Given the description of an element on the screen output the (x, y) to click on. 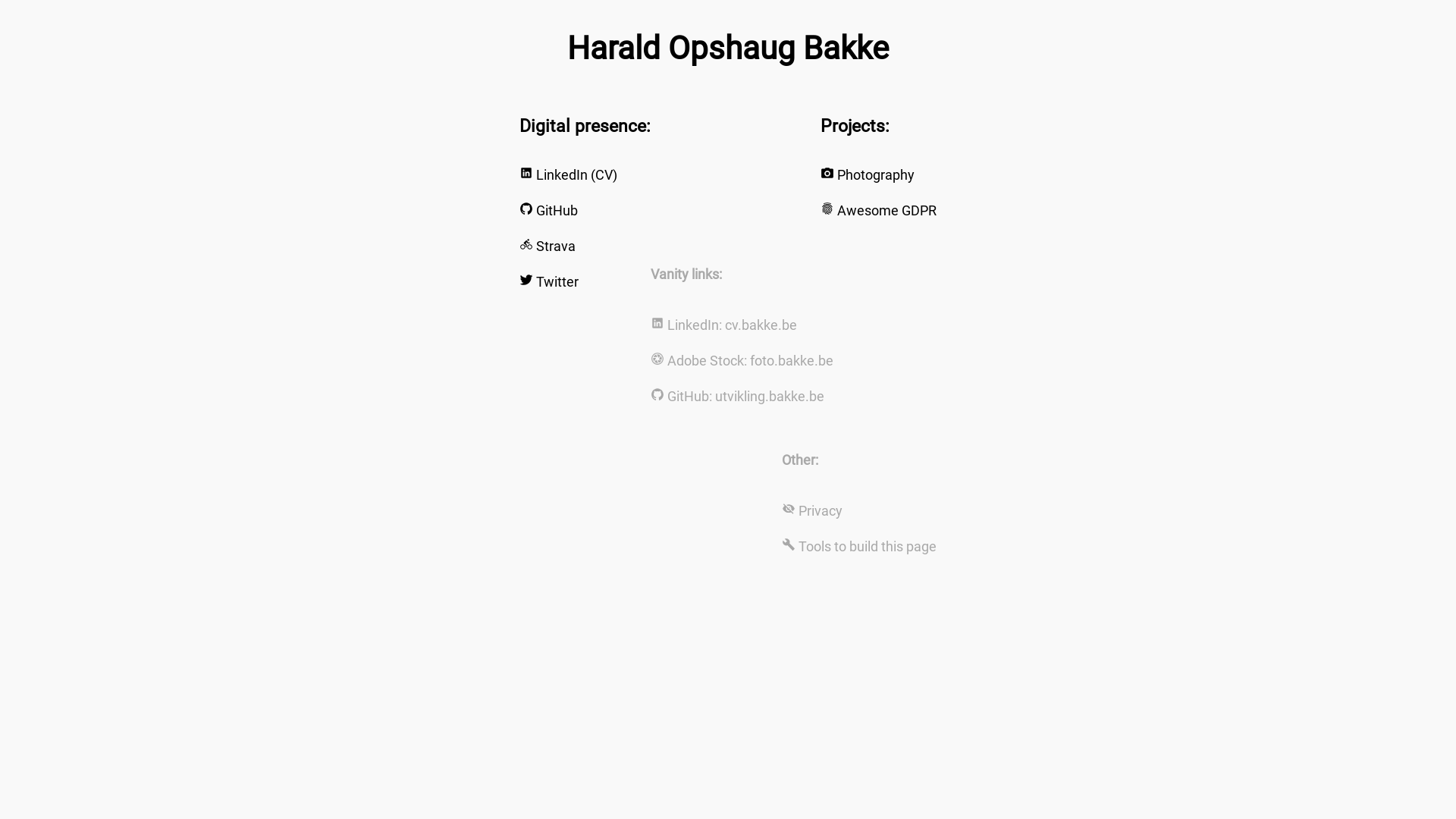
GitHub Element type: text (556, 210)
Photography Element type: text (875, 174)
LinkedIn (CV) Element type: text (576, 174)
utvikling.bakke.be Element type: text (769, 396)
Twitter Element type: text (557, 281)
Awesome GDPR Element type: text (886, 210)
cv.bakke.be Element type: text (760, 324)
Strava Element type: text (555, 246)
foto.bakke.be Element type: text (791, 360)
Tools to build this page Element type: text (867, 546)
Harald Opshaug Bakke Element type: text (727, 47)
Privacy Element type: text (820, 510)
